Given the description of an element on the screen output the (x, y) to click on. 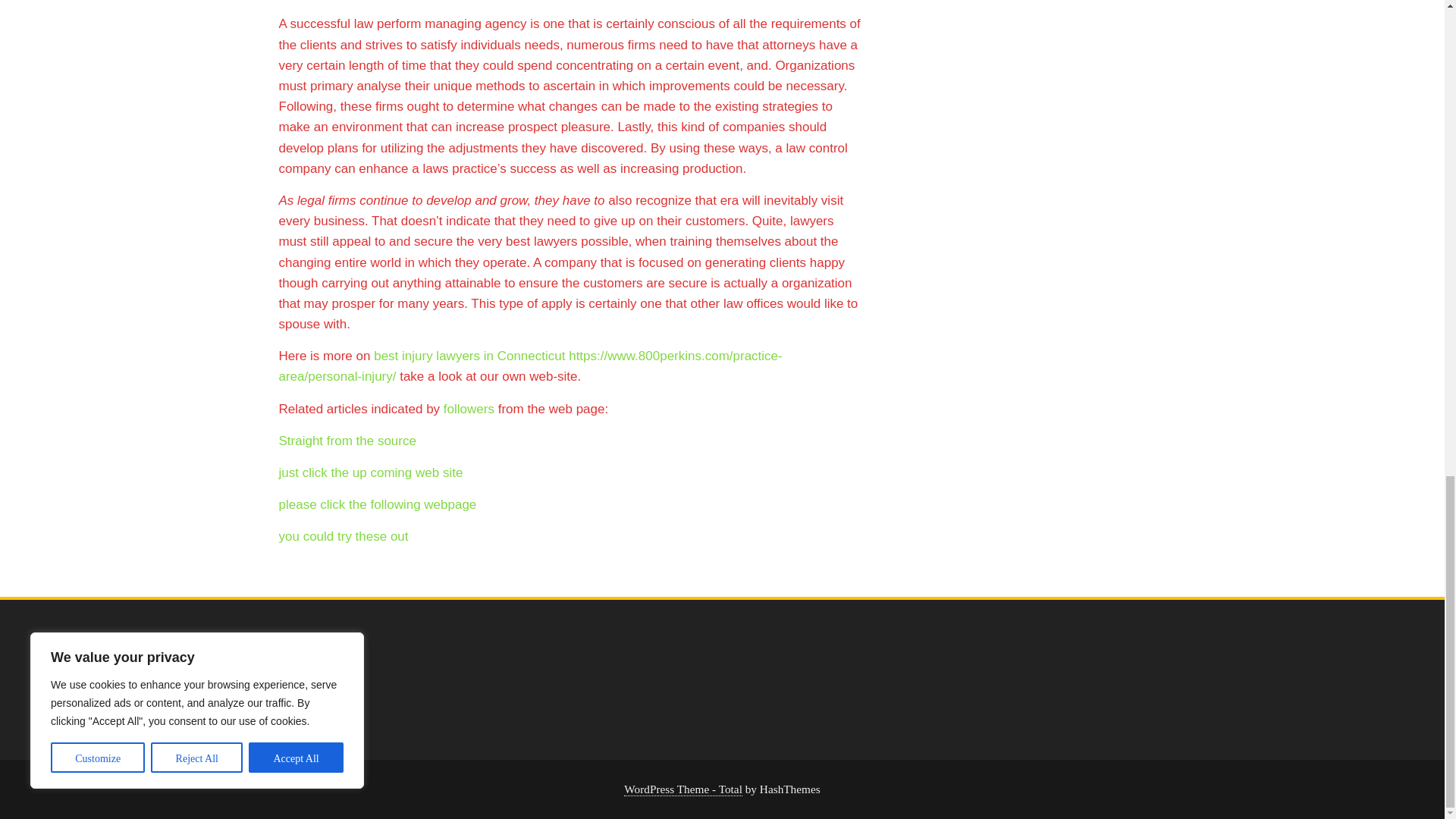
followers (469, 409)
please click the following webpage (378, 504)
Straight from the source (347, 440)
you could try these out (344, 536)
just click the up coming web site (371, 472)
